Given the description of an element on the screen output the (x, y) to click on. 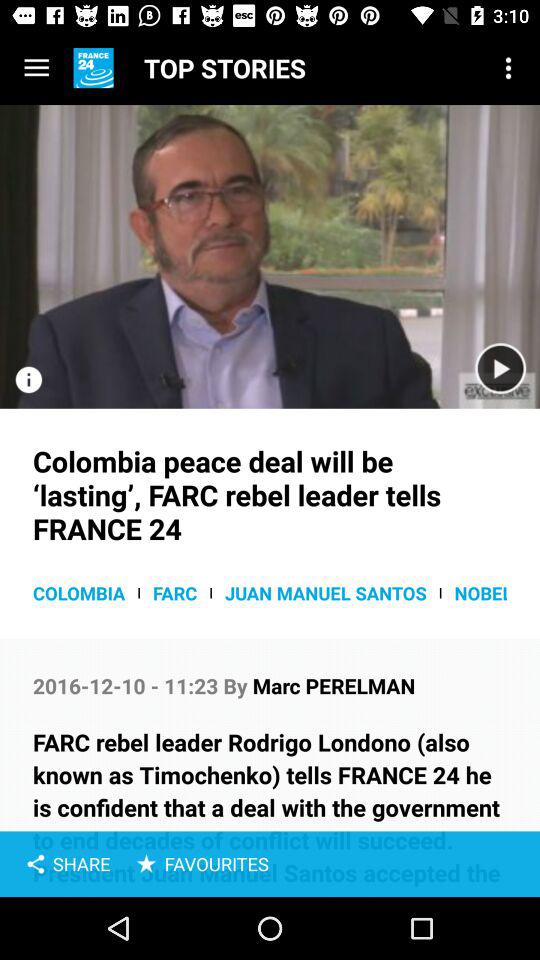
play option (500, 368)
